Given the description of an element on the screen output the (x, y) to click on. 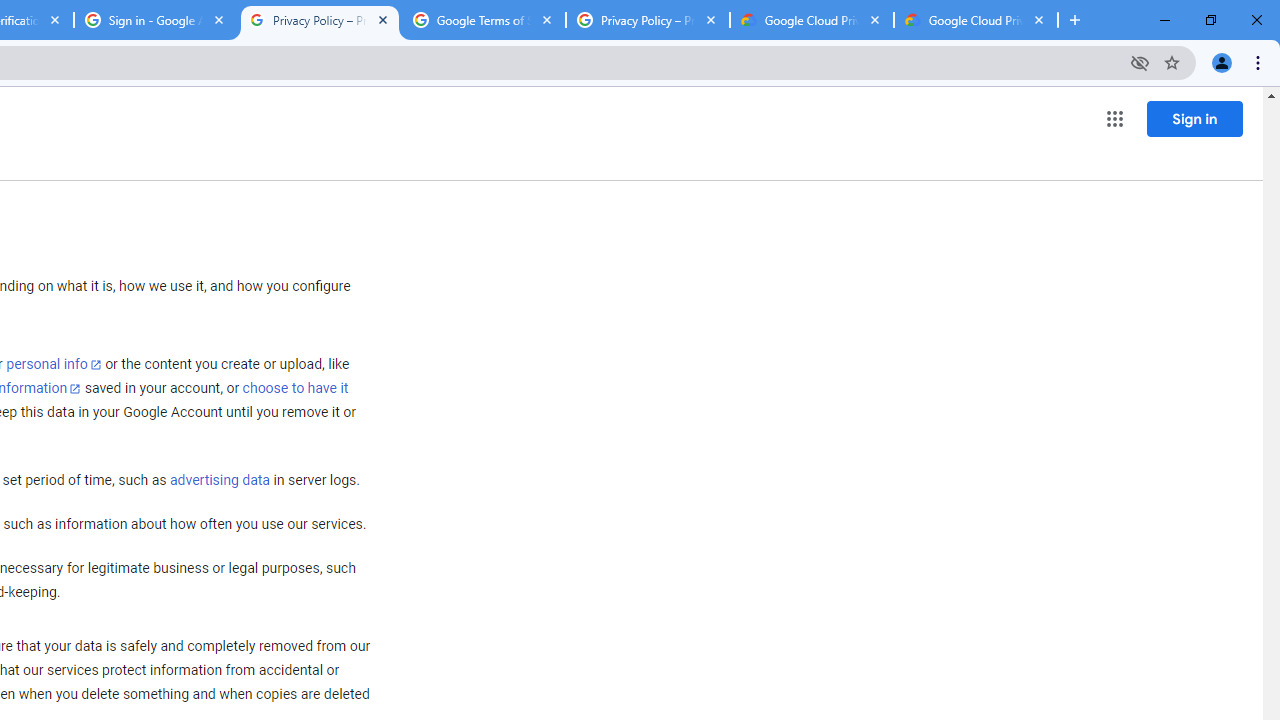
Google Cloud Privacy Notice (975, 20)
Sign in - Google Accounts (156, 20)
